Given the description of an element on the screen output the (x, y) to click on. 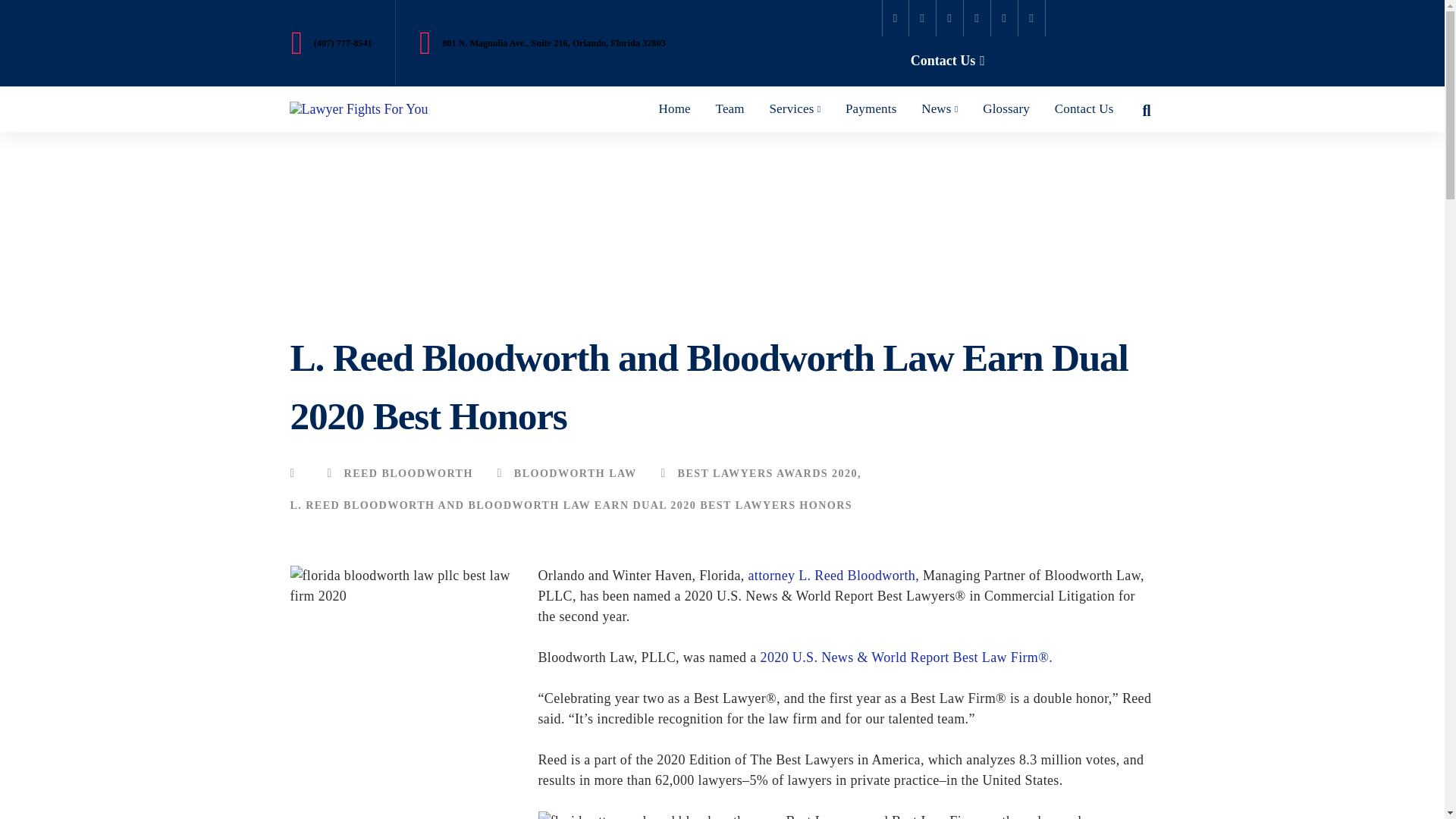
Contact Us (946, 61)
Home (674, 109)
Services (794, 109)
Posts by Reed Bloodworth (400, 472)
Payments (870, 109)
Glossary (1005, 109)
News (939, 109)
